Given the description of an element on the screen output the (x, y) to click on. 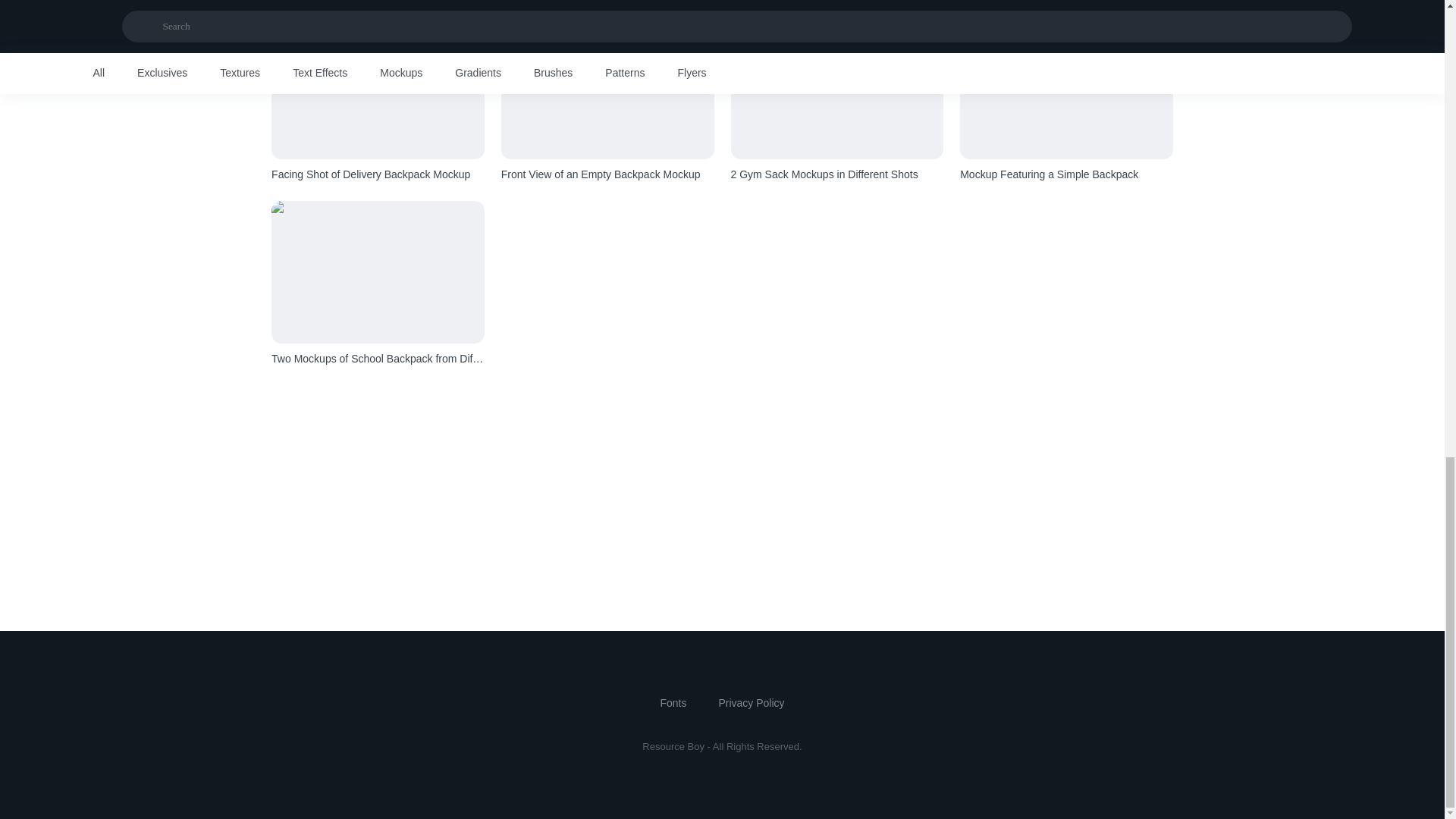
Facing Shot of Delivery Backpack Mockup (377, 174)
Front View of an Empty Backpack Mockup (607, 174)
2 Gym Sack Mockups in Different Shots (836, 174)
